Given the description of an element on the screen output the (x, y) to click on. 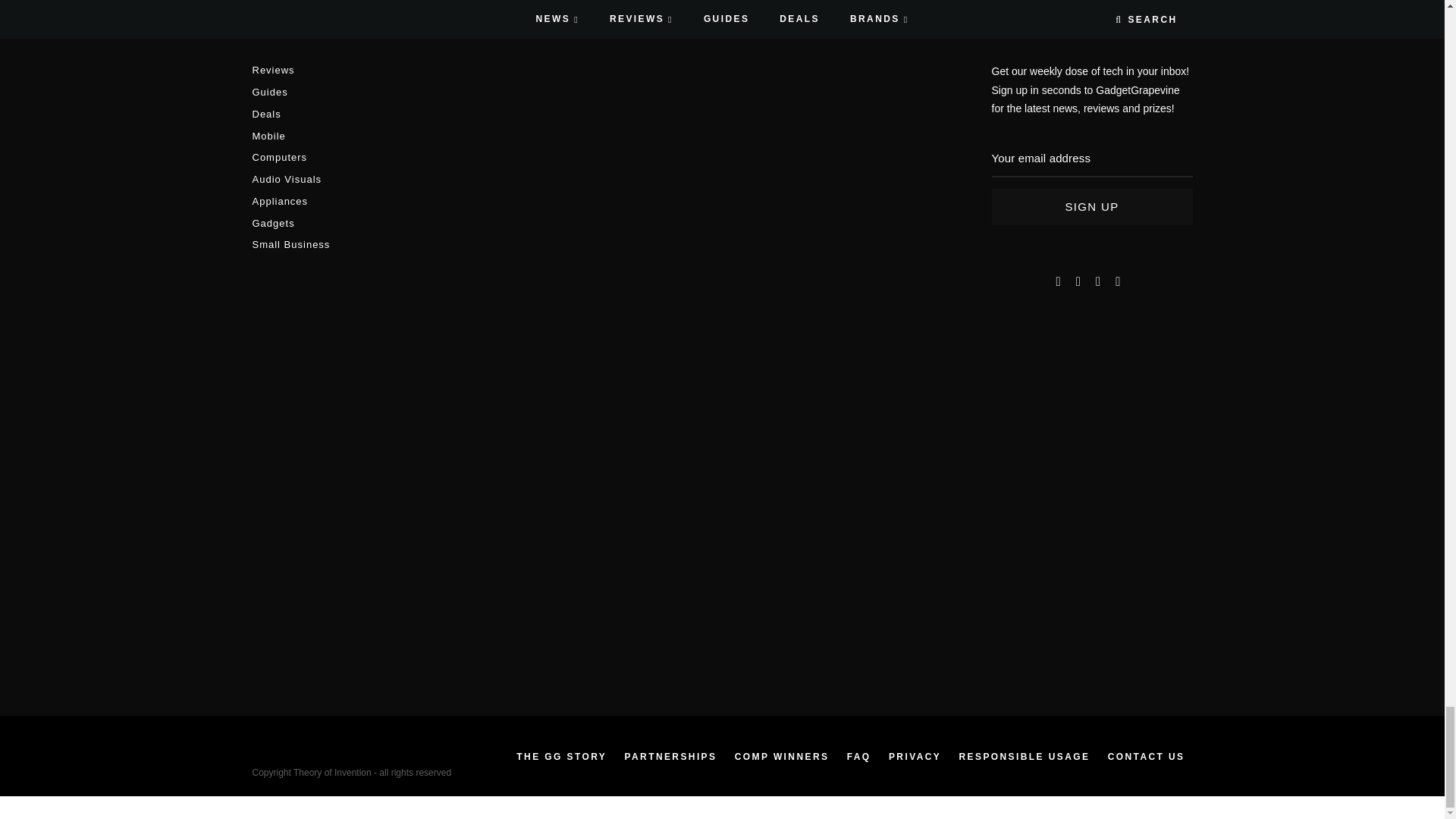
Sign up (1091, 207)
